Given the description of an element on the screen output the (x, y) to click on. 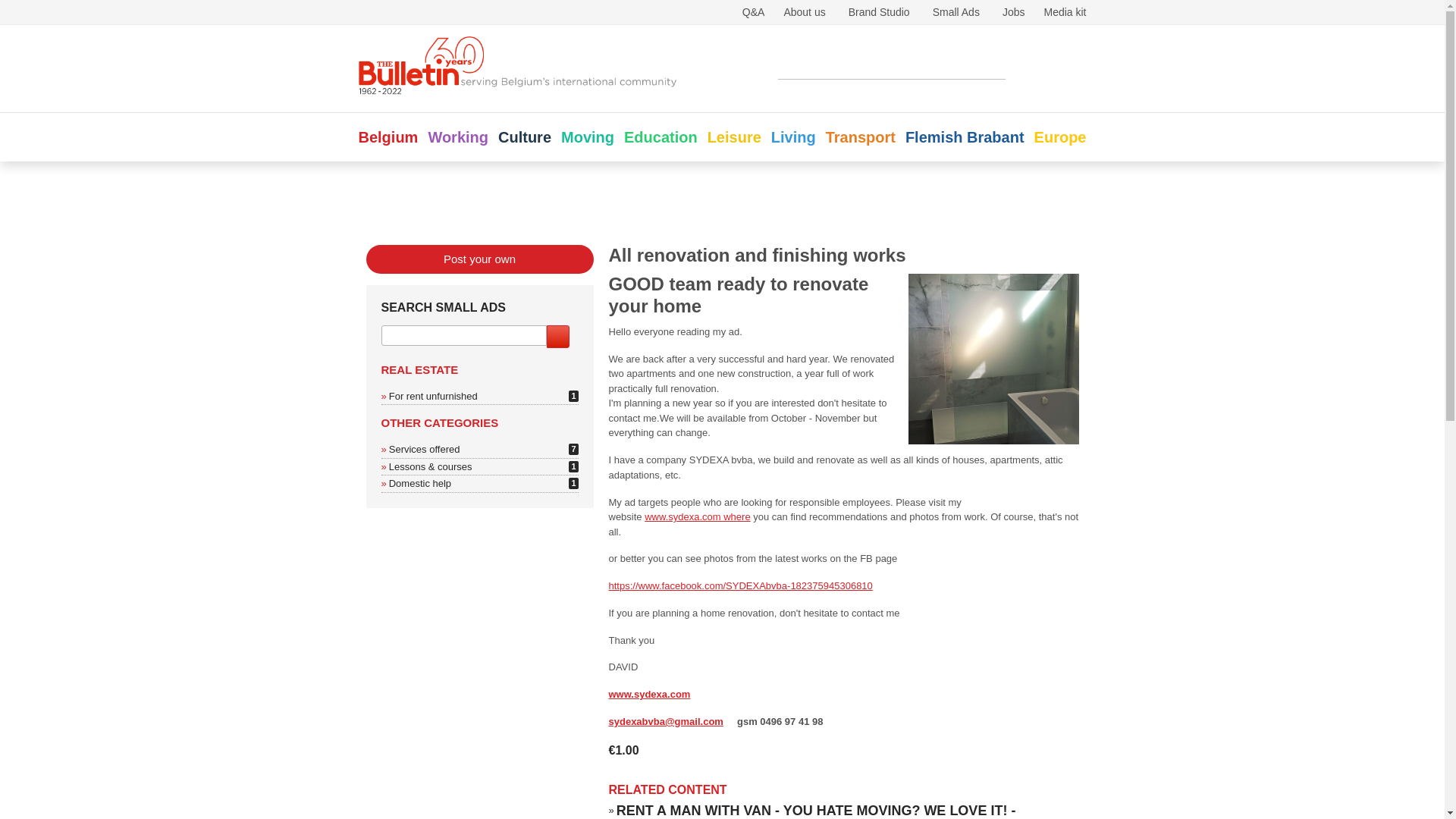
Flemish Brabant (965, 136)
Transport (860, 136)
Leisure (734, 136)
Media kit (1064, 11)
Jobs (1014, 11)
Education (660, 136)
Living (793, 136)
About us (804, 11)
